Given the description of an element on the screen output the (x, y) to click on. 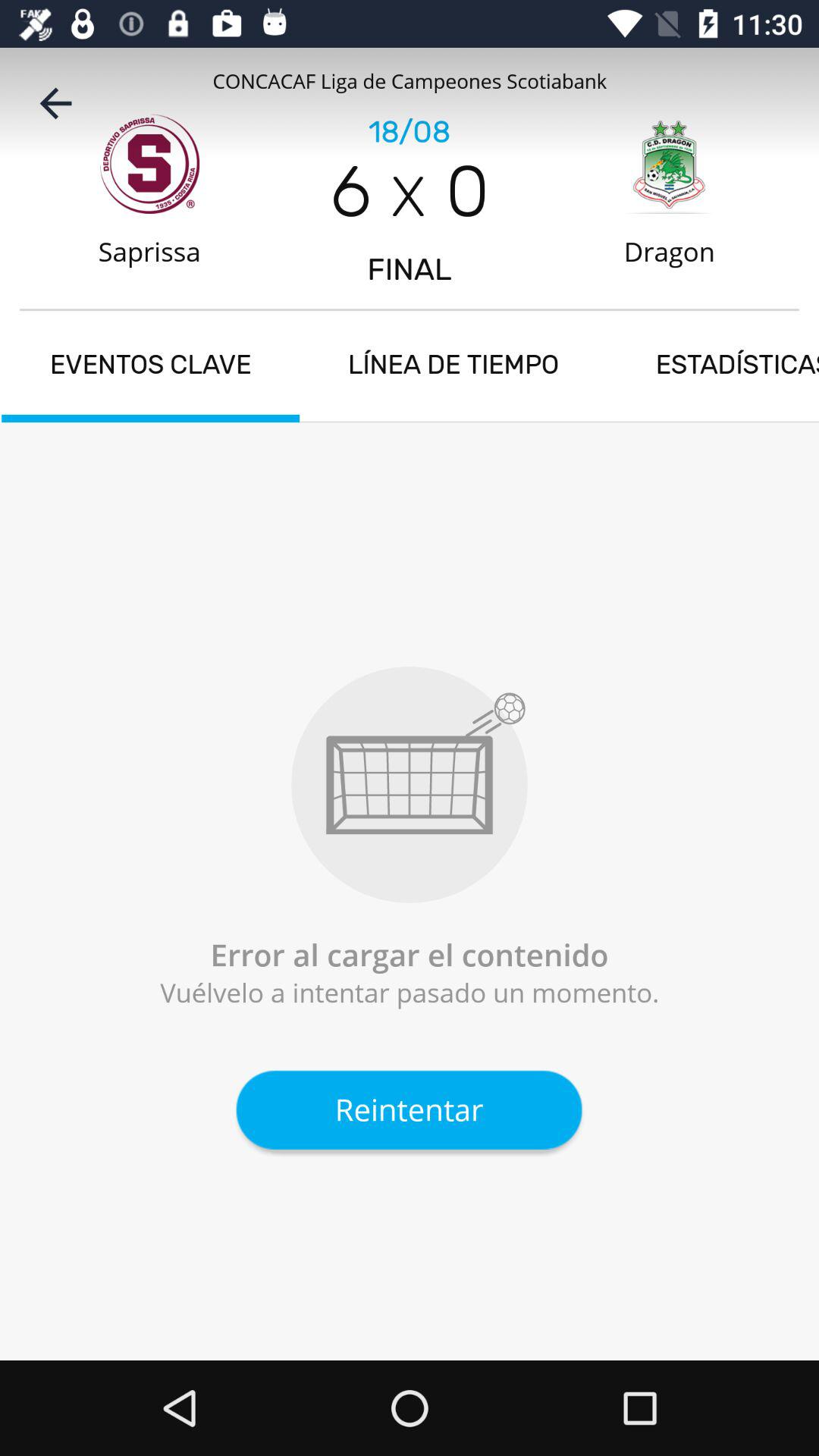
click icon next to the 18/08 (55, 103)
